Given the description of an element on the screen output the (x, y) to click on. 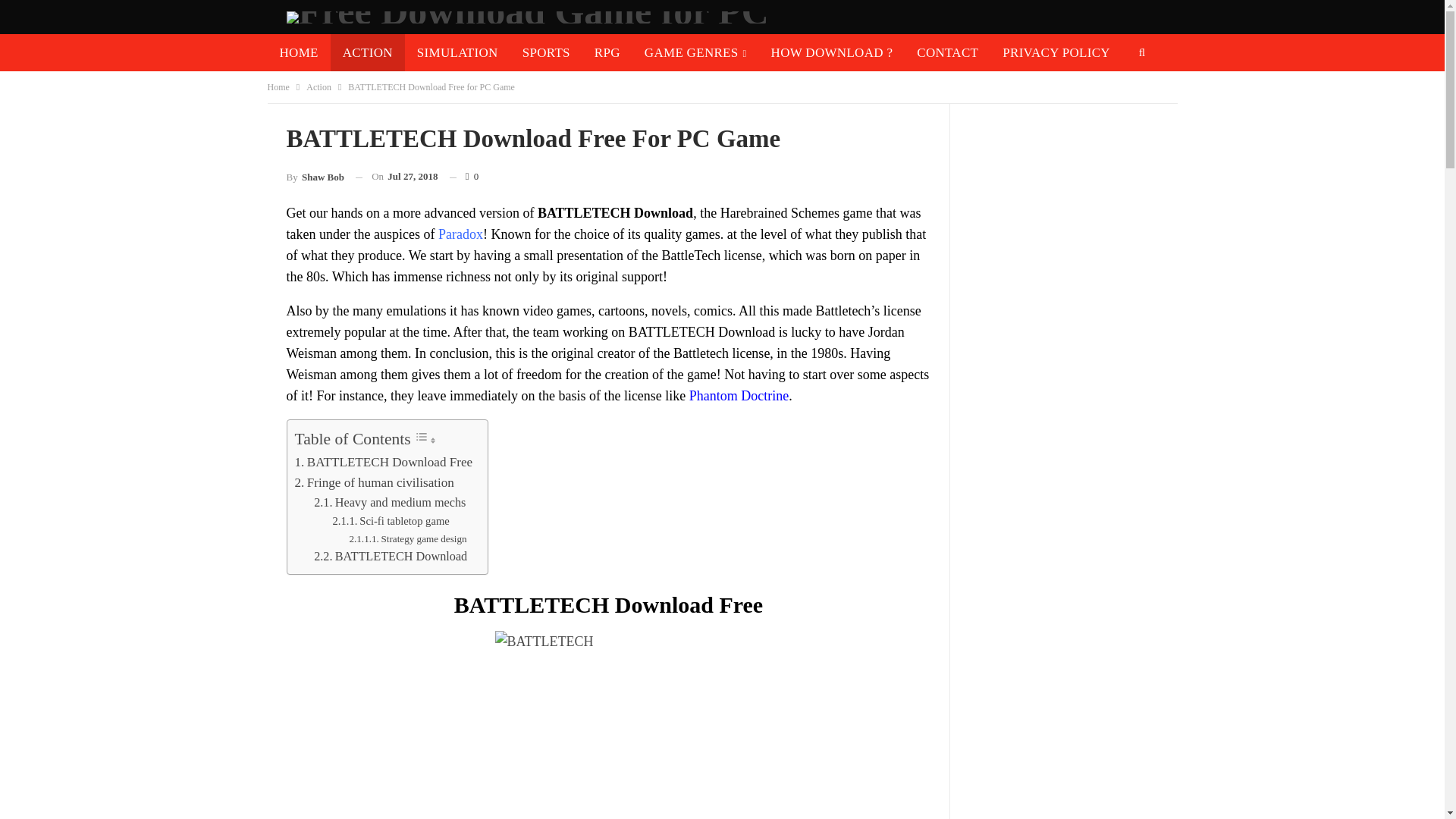
Strategy game design (407, 538)
SIMULATION (457, 52)
Heavy and medium mechs (389, 502)
ACTION (367, 52)
RPG (606, 52)
PRIVACY POLICY (1056, 52)
By Shaw Bob (314, 177)
Action (318, 86)
Phantom Doctrine (738, 395)
